Given the description of an element on the screen output the (x, y) to click on. 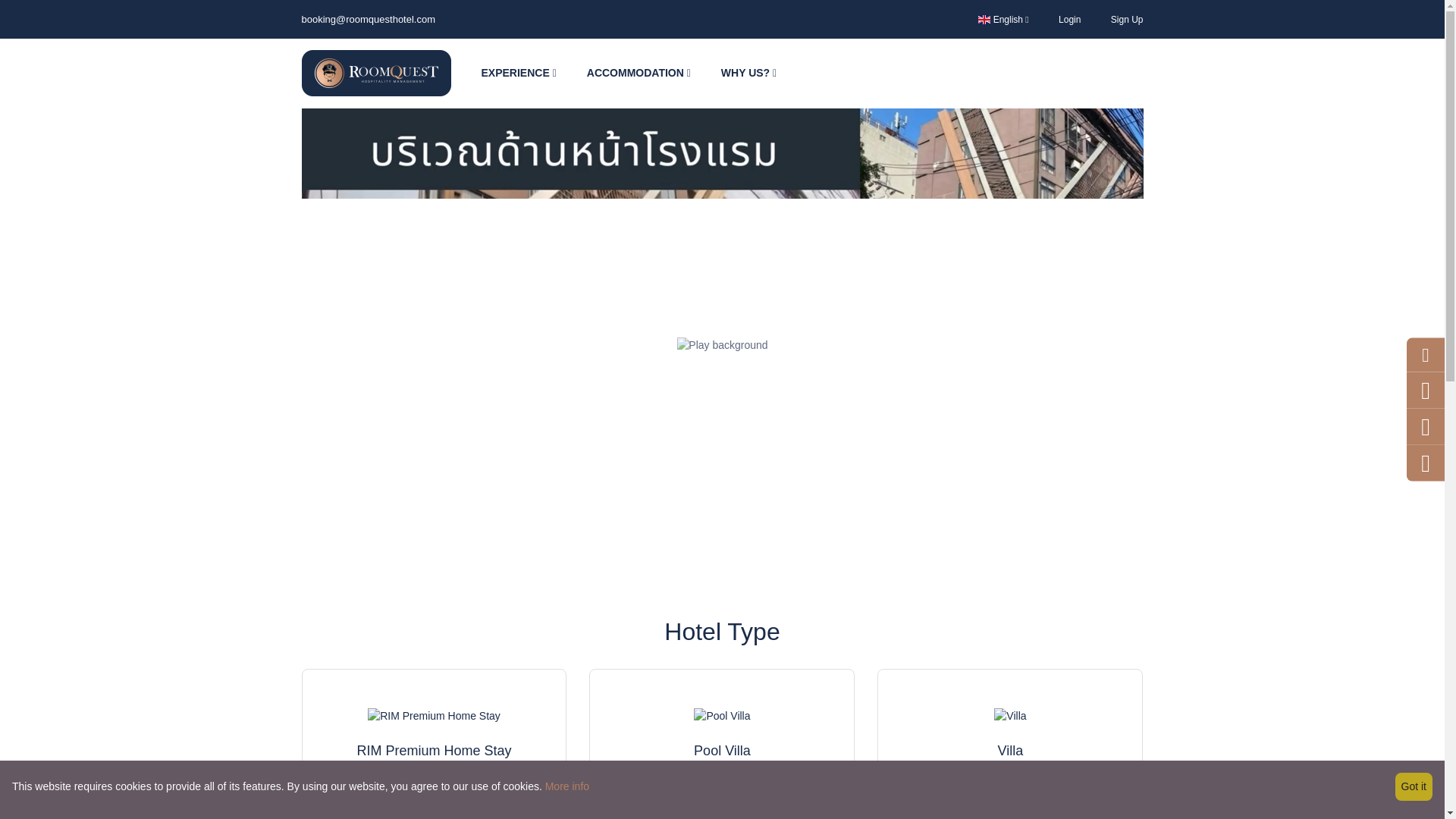
Sign Up (1126, 18)
ACCOMMODATION (639, 72)
WHY US? (749, 72)
EXPERIENCE (517, 72)
English (1002, 18)
Login (1069, 18)
